Given the description of an element on the screen output the (x, y) to click on. 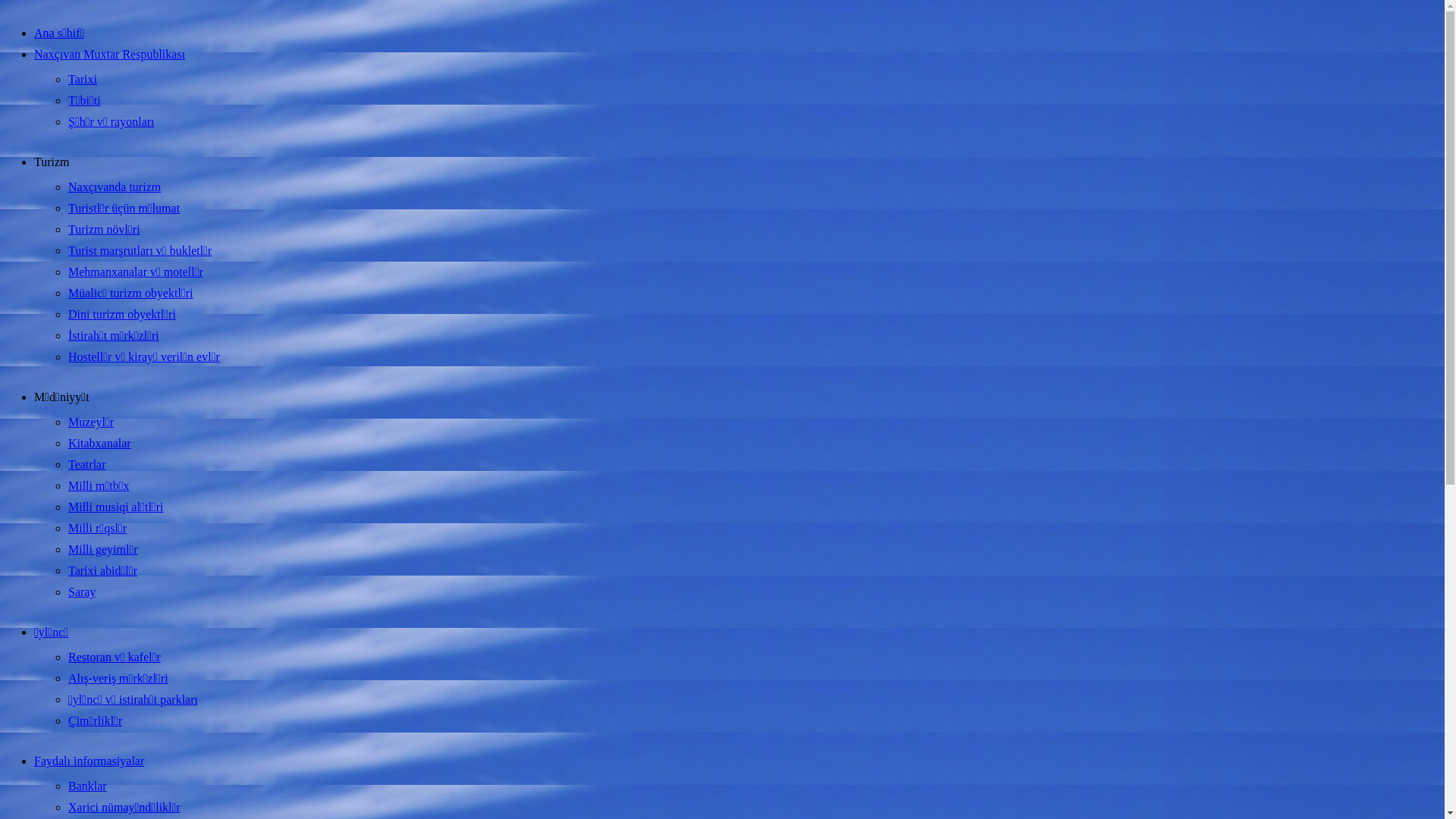
. Element type: text (1, 26)
Saray Element type: text (81, 591)
Kitabxanalar Element type: text (99, 442)
Banklar Element type: text (87, 785)
Tarixi Element type: text (82, 78)
Teatrlar Element type: text (87, 464)
